Given the description of an element on the screen output the (x, y) to click on. 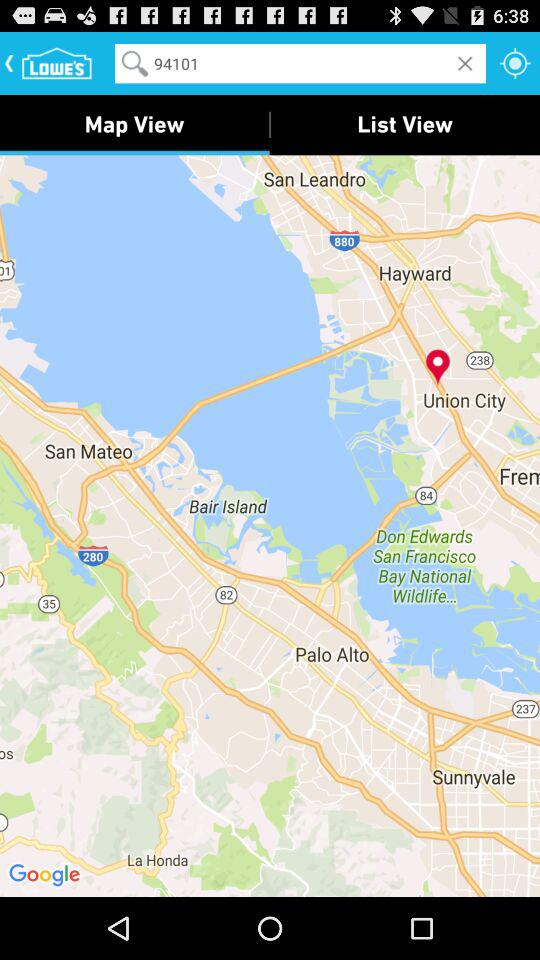
turn on the icon above list view item (515, 62)
